Given the description of an element on the screen output the (x, y) to click on. 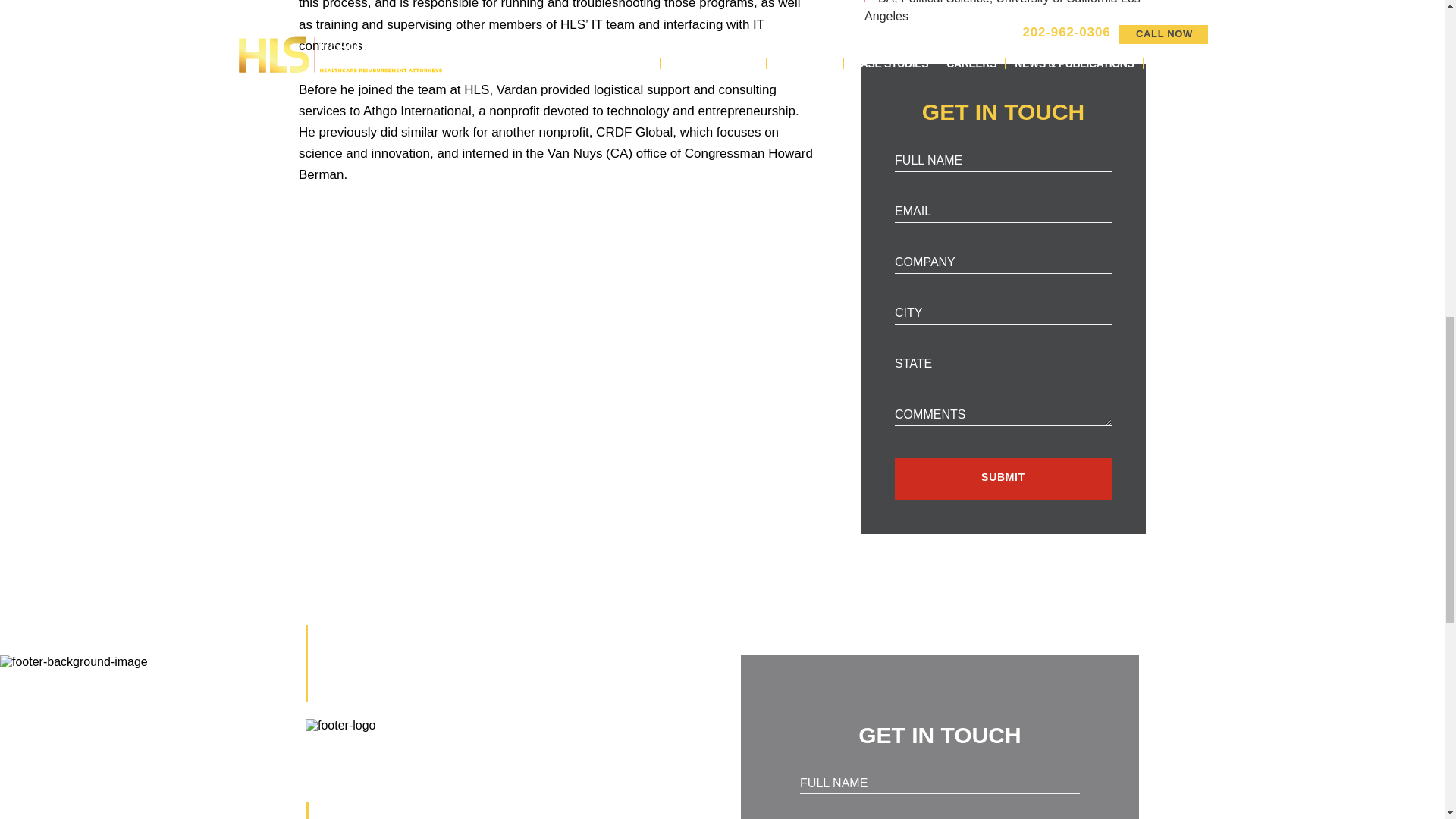
Submit (1003, 478)
Submit (1003, 478)
